Given the description of an element on the screen output the (x, y) to click on. 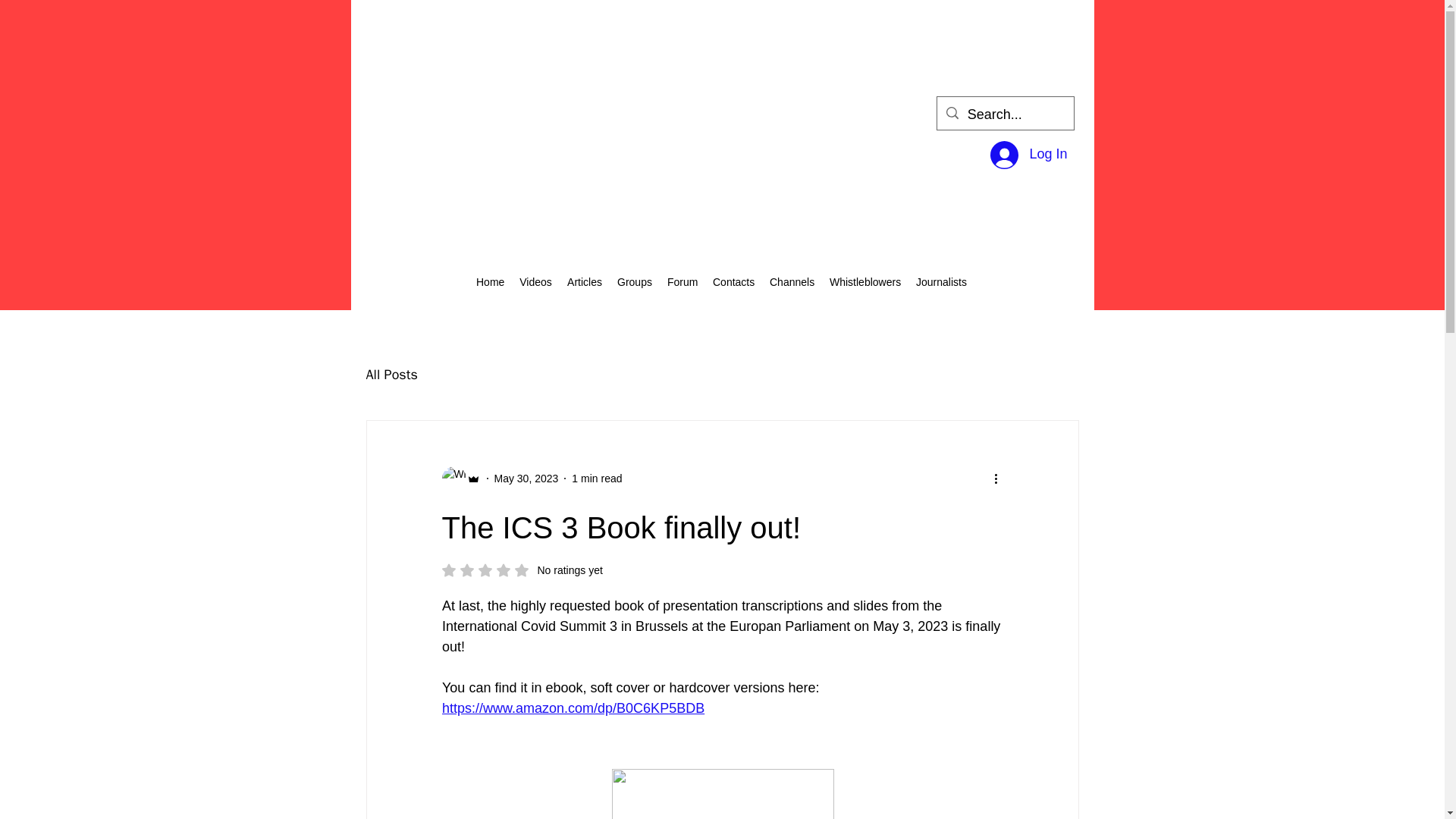
Journalists (521, 570)
Home (941, 282)
Whistleblowers (490, 282)
1 min read (865, 282)
May 30, 2023 (596, 477)
Contacts (527, 477)
Forum (732, 282)
Articles (681, 282)
Channels (584, 282)
Log In (791, 282)
All Posts (1028, 154)
Videos (390, 374)
Groups (535, 282)
